Given the description of an element on the screen output the (x, y) to click on. 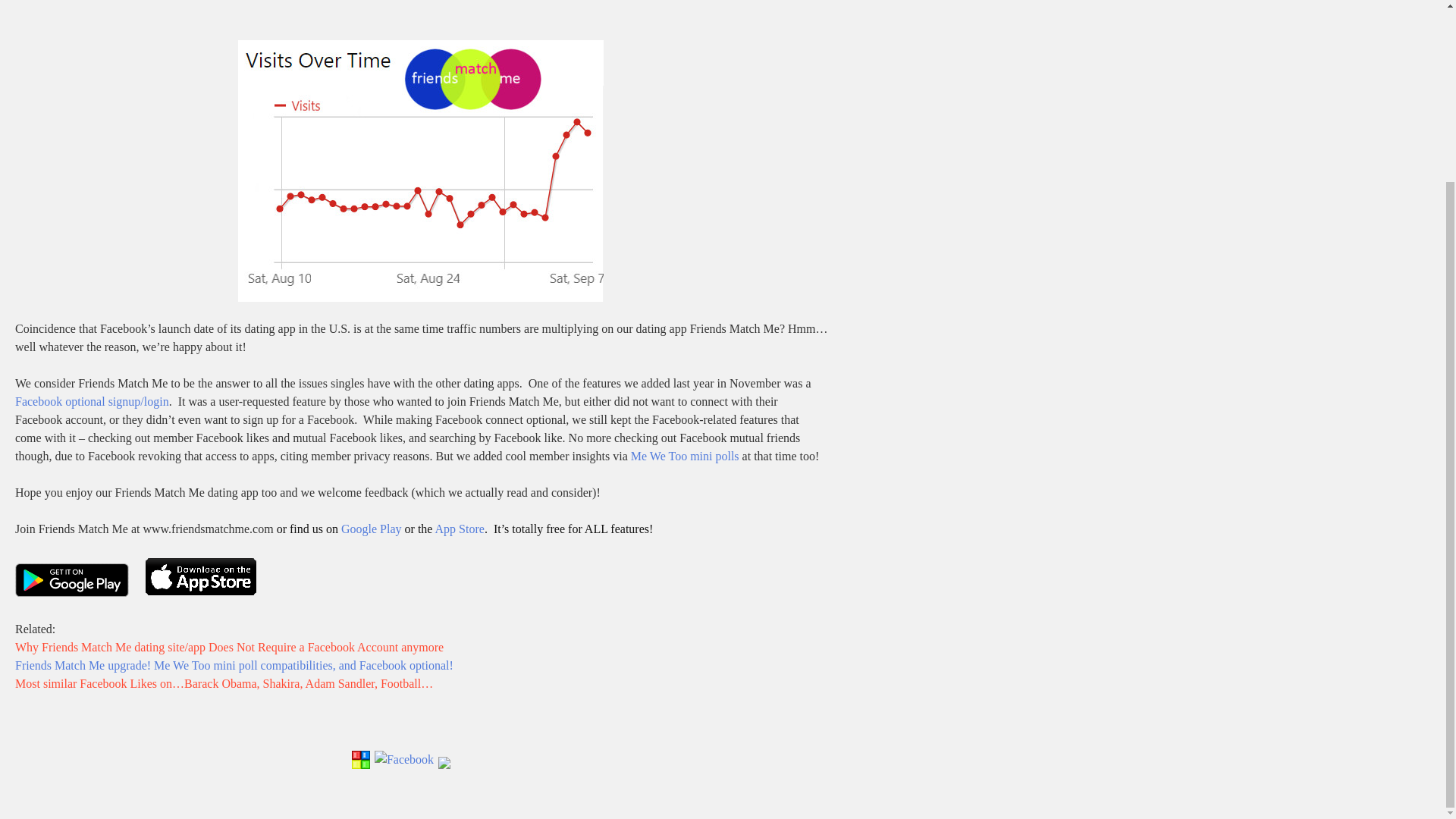
Facebook (403, 760)
Google Play (370, 528)
Article Global (360, 765)
Article Global (360, 760)
App Store (459, 528)
Me We Too mini polls (684, 455)
Facebook (403, 765)
www.friendsmatchme.com (207, 528)
